Given the description of an element on the screen output the (x, y) to click on. 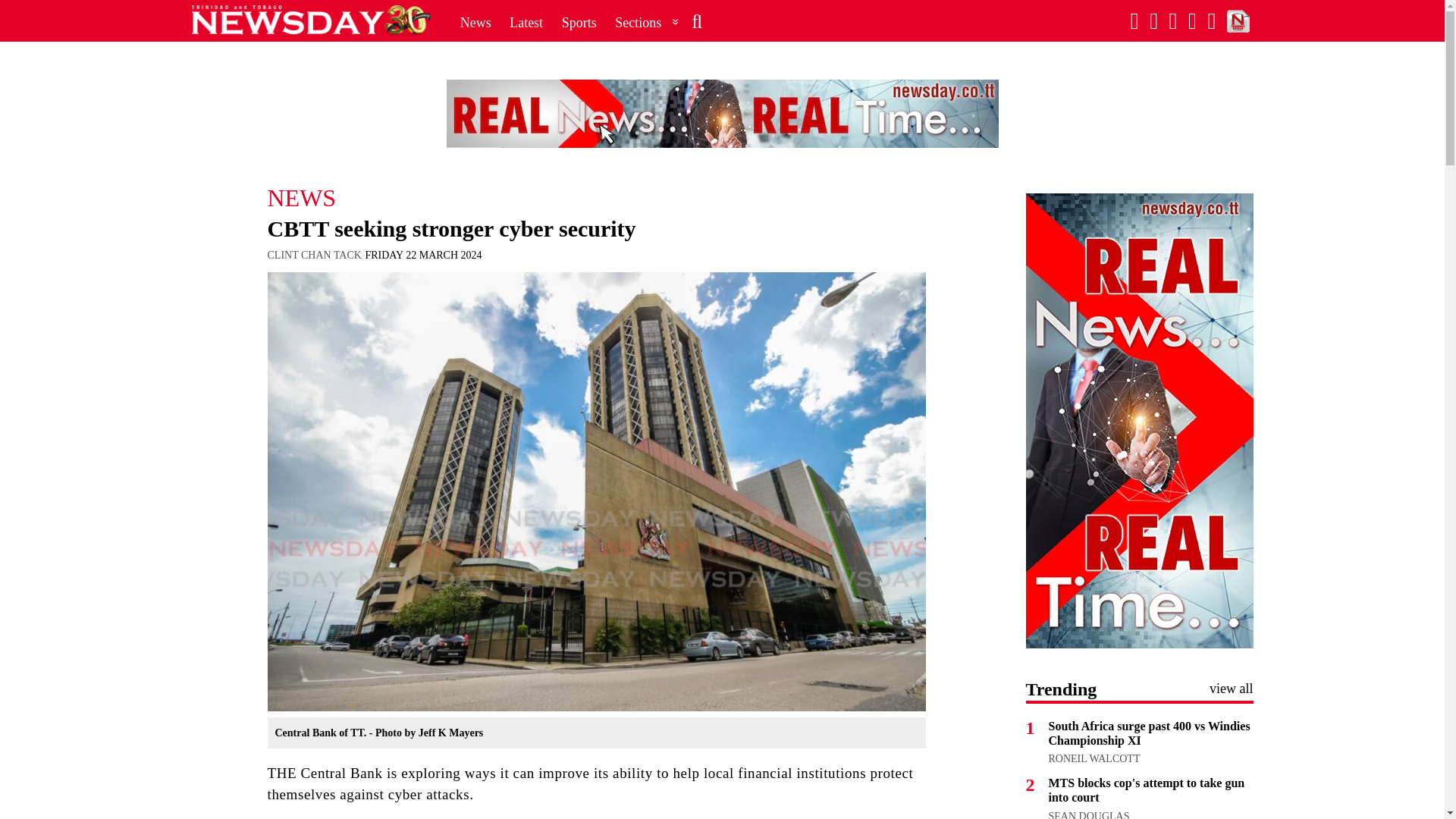
Newsday on Twitter (1173, 20)
RONEIL WALCOTT (1094, 758)
Newsday on LinkedIn (1212, 20)
News (475, 22)
South Africa surge past 400 vs Windies Championship XI (1148, 732)
Sections (647, 22)
MTS blocks cop's attempt to take gun into court (1146, 789)
SEAN DOUGLAS (1088, 814)
Sections (647, 22)
Latest (526, 22)
Friday 22 March 2024 (423, 254)
NEWS (595, 197)
N Touch (1238, 20)
Newsday on Facebook (1134, 20)
Sports (579, 22)
